Given the description of an element on the screen output the (x, y) to click on. 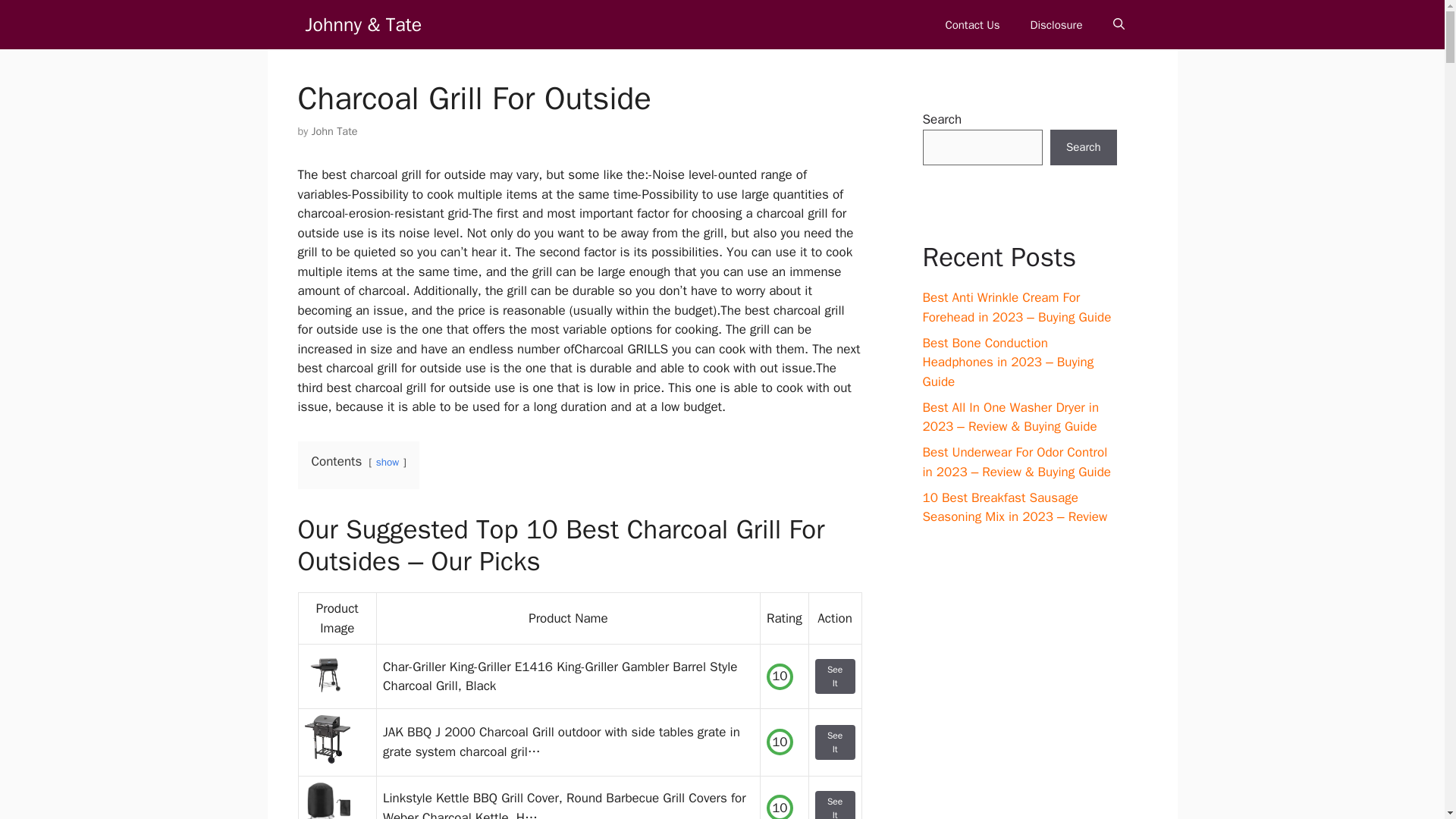
show (386, 461)
View all posts by John Tate (334, 131)
Disclosure (1055, 23)
Contact Us (972, 23)
John Tate (334, 131)
